Given the description of an element on the screen output the (x, y) to click on. 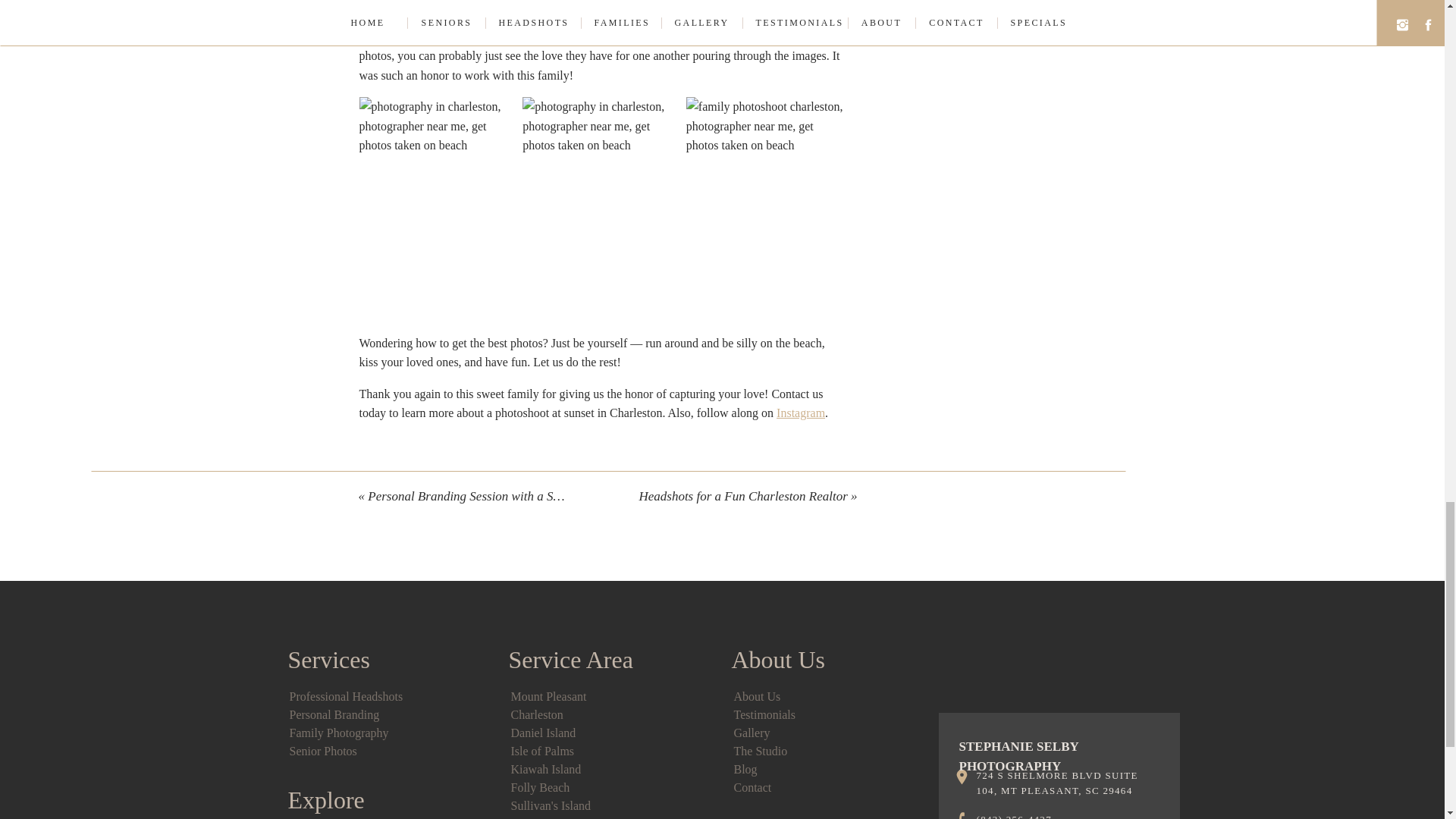
724 S SHELMORE BLVD SUITE 104, MT PLEASANT, SC 29464 (1066, 784)
The Studio (760, 750)
STEPHANIE SELBY PHOTOGRAPHY (1057, 748)
About Us (756, 696)
Contact (752, 787)
Headshots for a Fun Charleston Realtor (743, 495)
Gallery (751, 732)
Blog (745, 768)
Testimonials (764, 714)
